Given the description of an element on the screen output the (x, y) to click on. 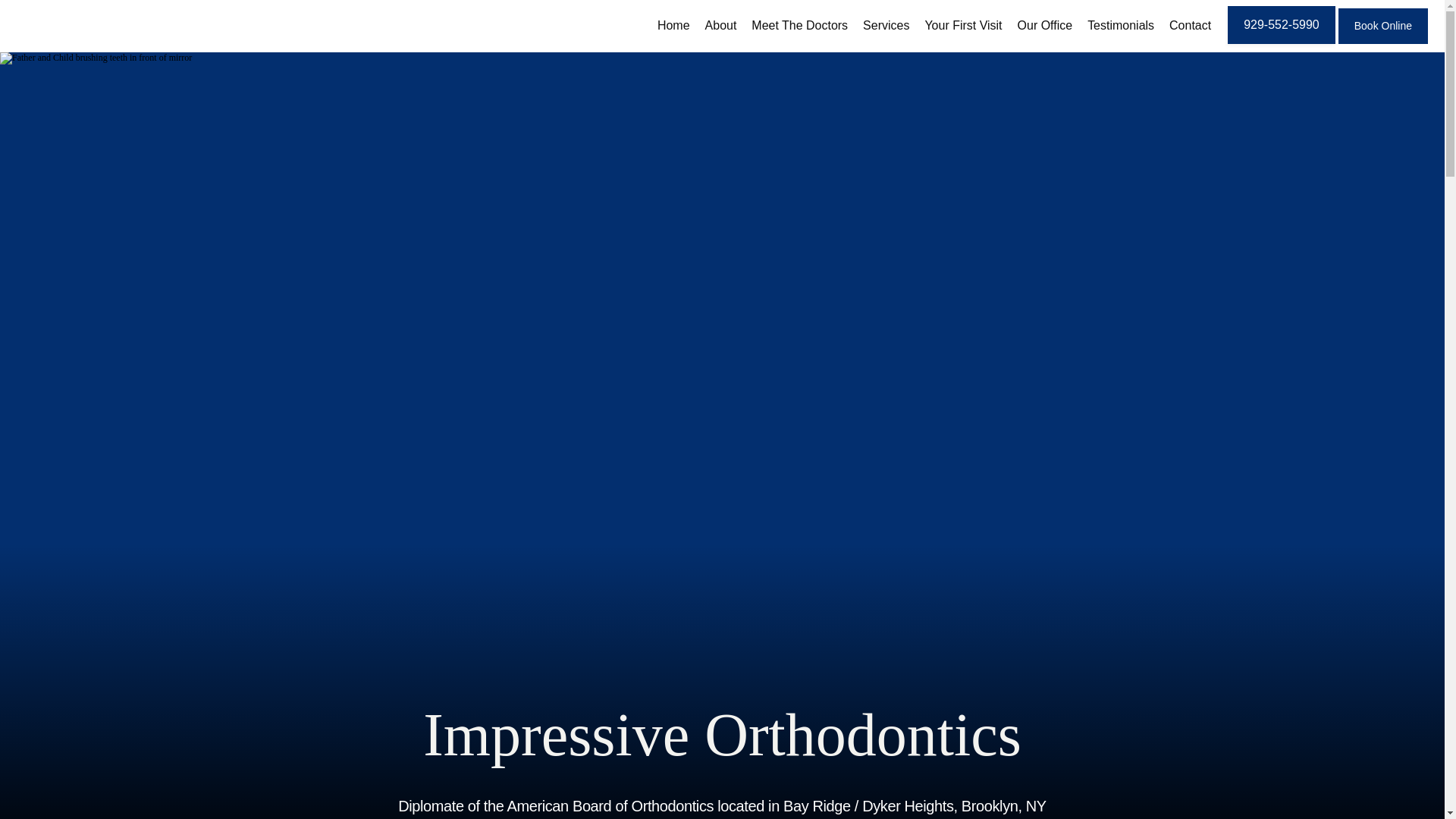
929-552-5990 (1280, 41)
Our Office (1045, 24)
Your First Visit (962, 24)
Services (885, 24)
Book Online (1382, 41)
Home (674, 24)
Contact (1190, 24)
Testimonials (1120, 24)
Meet The Doctors (799, 24)
About (720, 24)
